Given the description of an element on the screen output the (x, y) to click on. 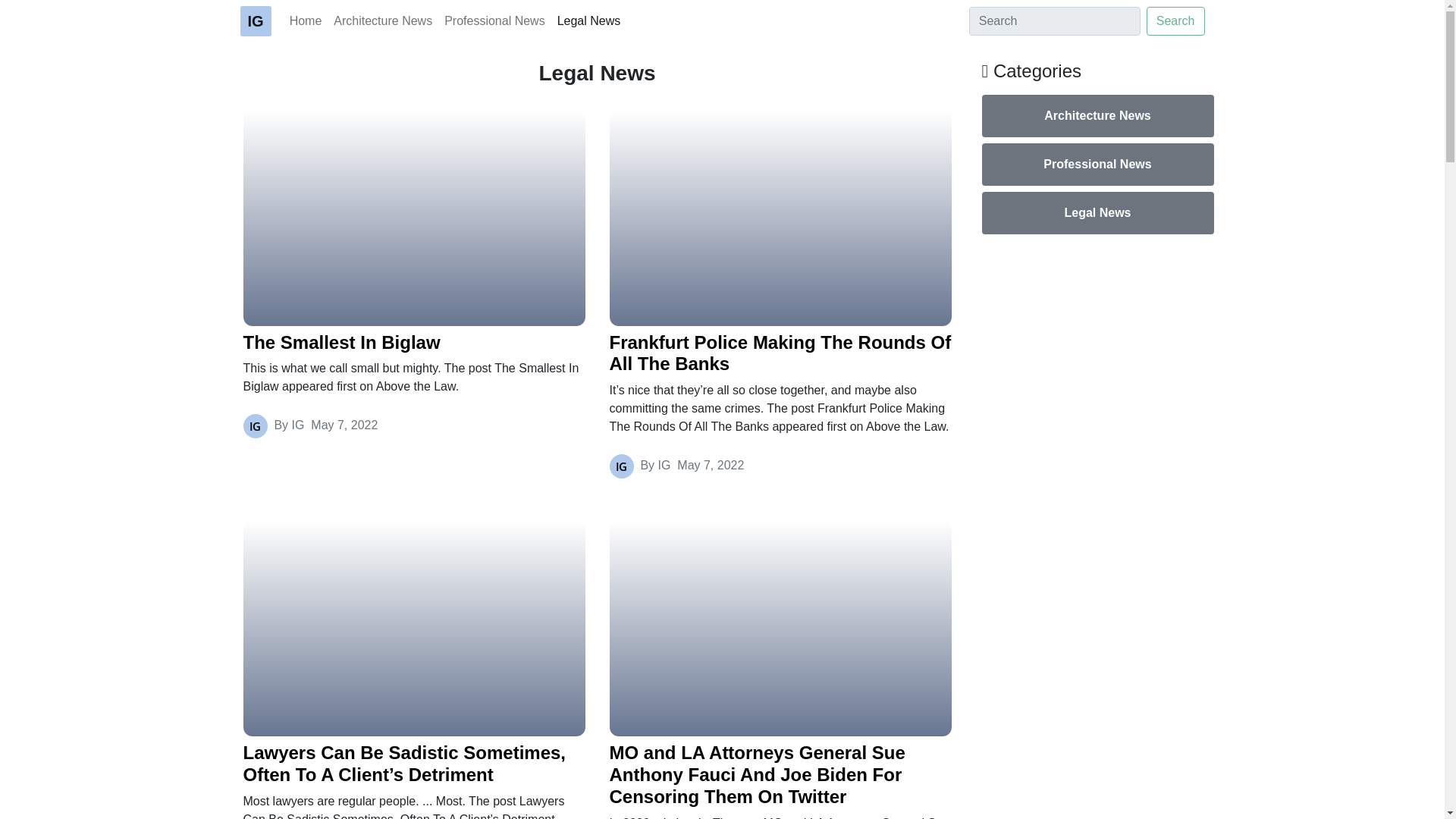
Legal News (589, 20)
Search (1176, 21)
The Smallest In Biglaw (414, 342)
Legal News (1096, 212)
Architecture News (1096, 116)
Professional News (494, 20)
IG (255, 20)
Architecture News (382, 20)
Frankfurt Police Making The Rounds Of All The Banks (781, 353)
Professional News (1096, 164)
Home (306, 20)
